Given the description of an element on the screen output the (x, y) to click on. 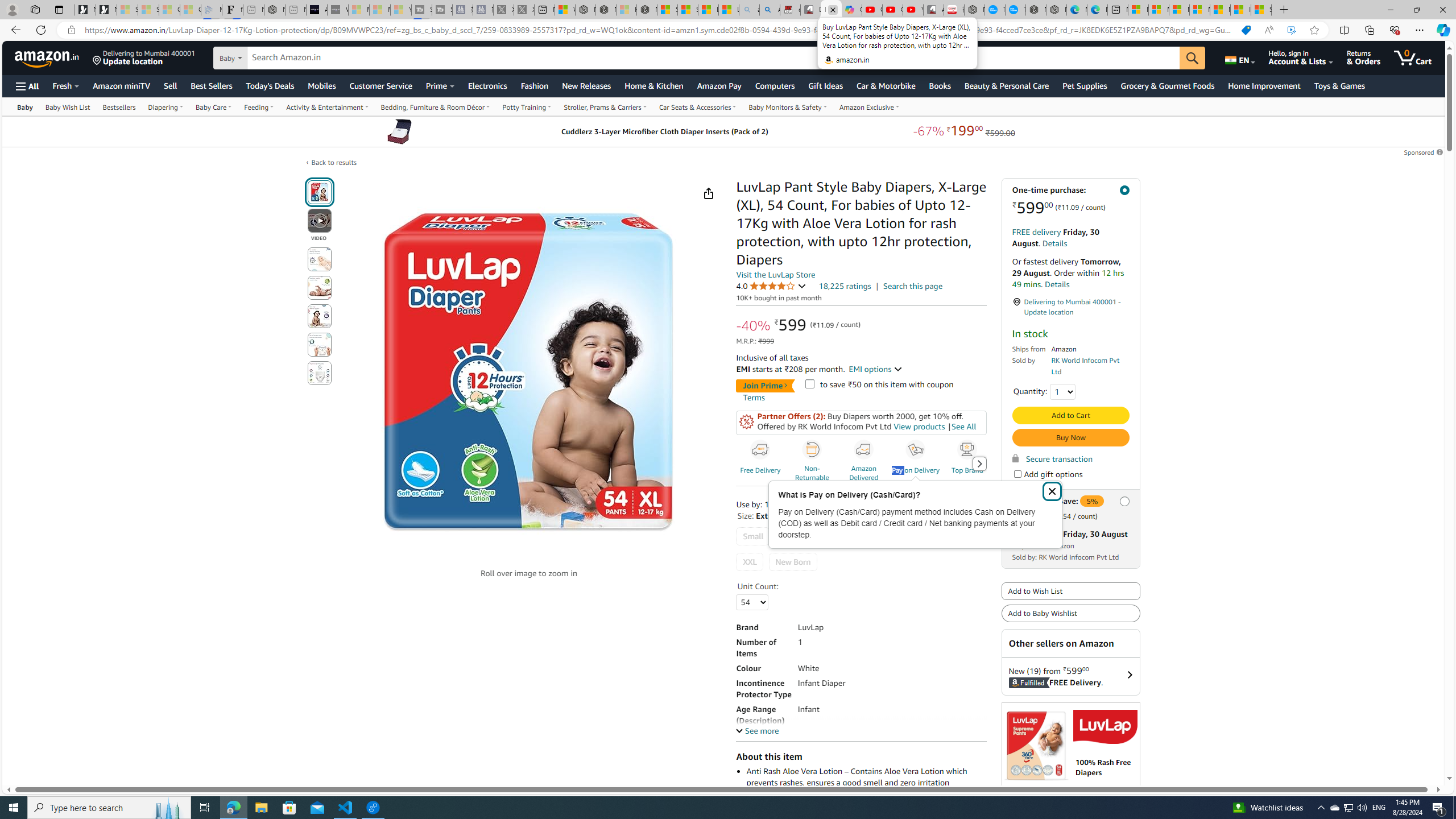
Microsoft Start - Sleeping (379, 9)
Newsletter Sign Up (106, 9)
All Cubot phones (933, 9)
